Given the description of an element on the screen output the (x, y) to click on. 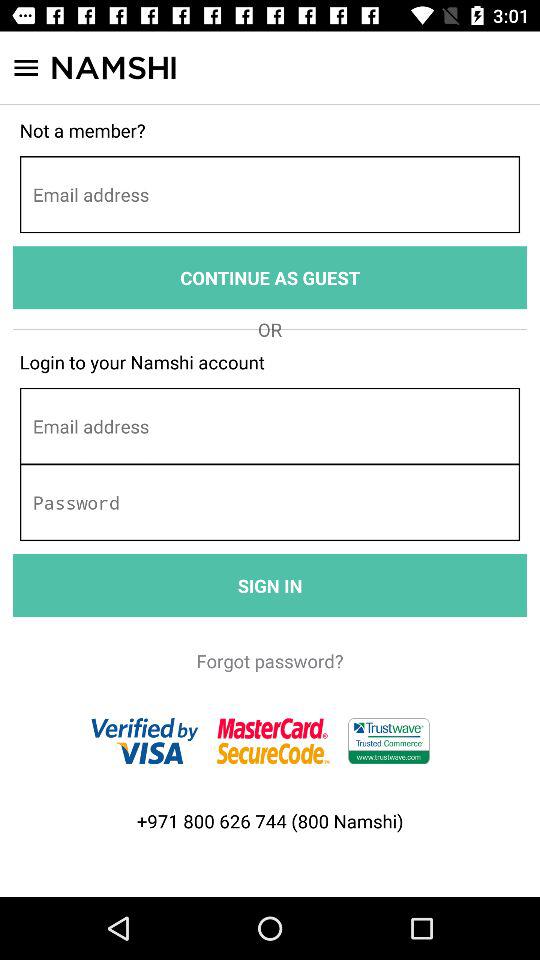
tap the sign in item (269, 585)
